Given the description of an element on the screen output the (x, y) to click on. 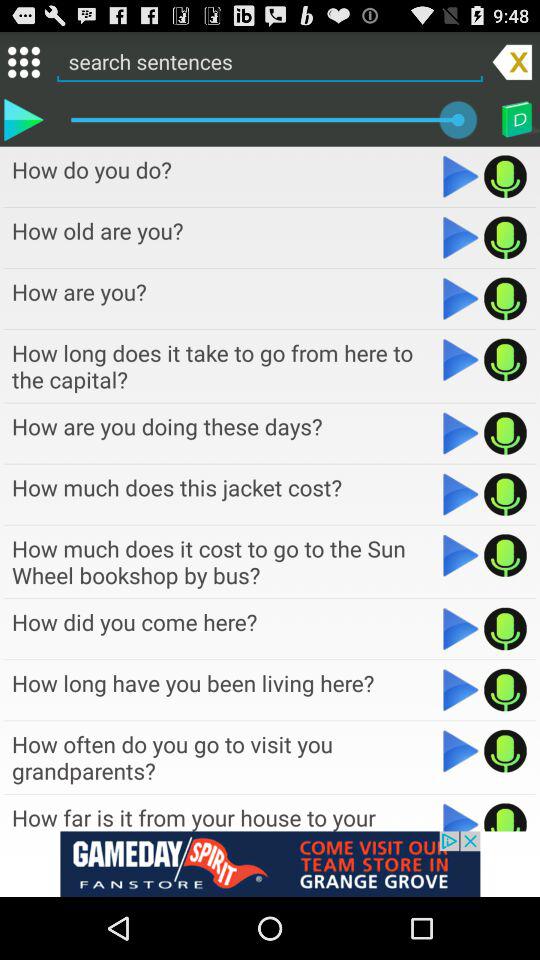
search option (269, 61)
